Given the description of an element on the screen output the (x, y) to click on. 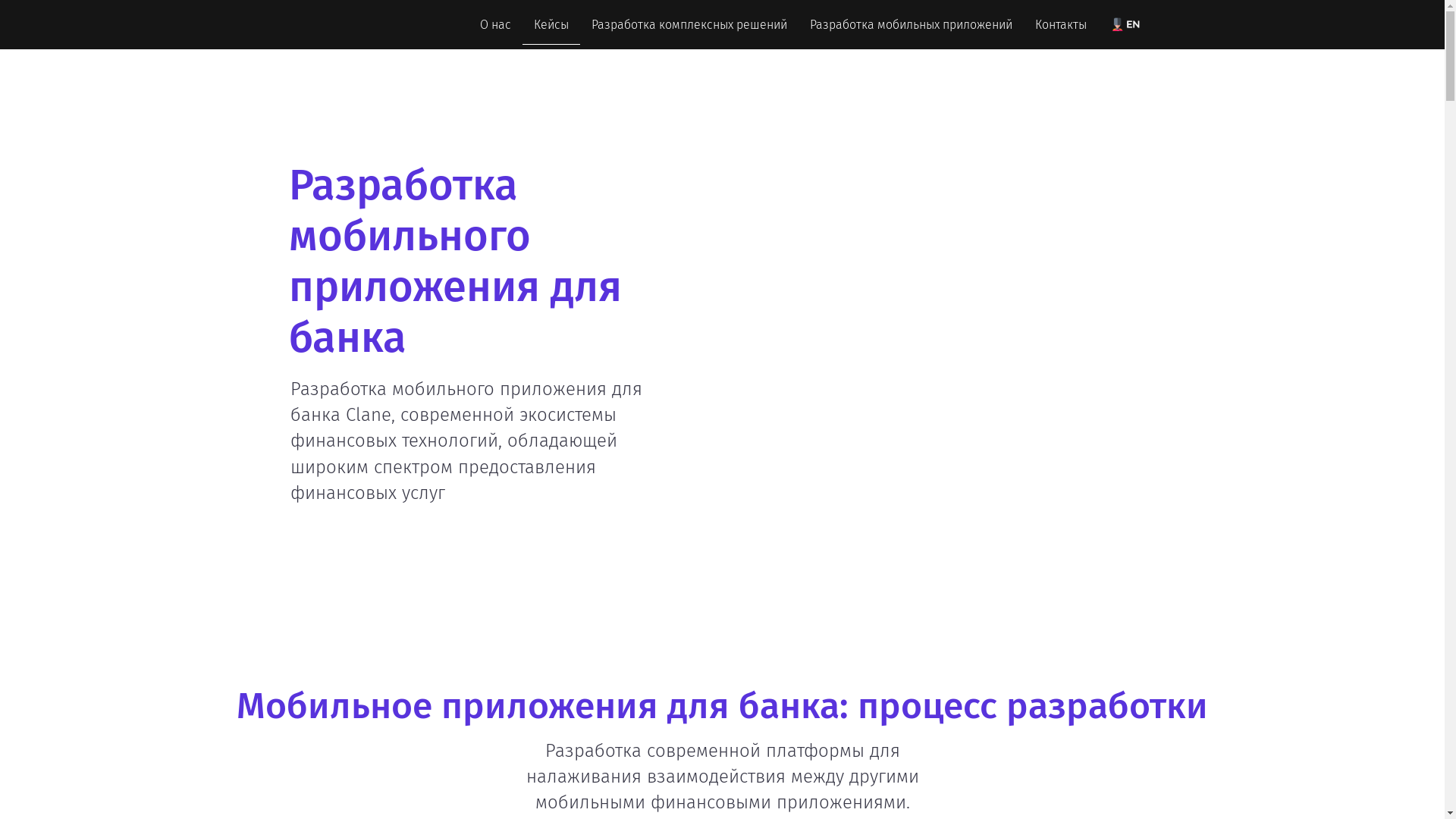
Tapston Element type: text (342, 24)
